Given the description of an element on the screen output the (x, y) to click on. 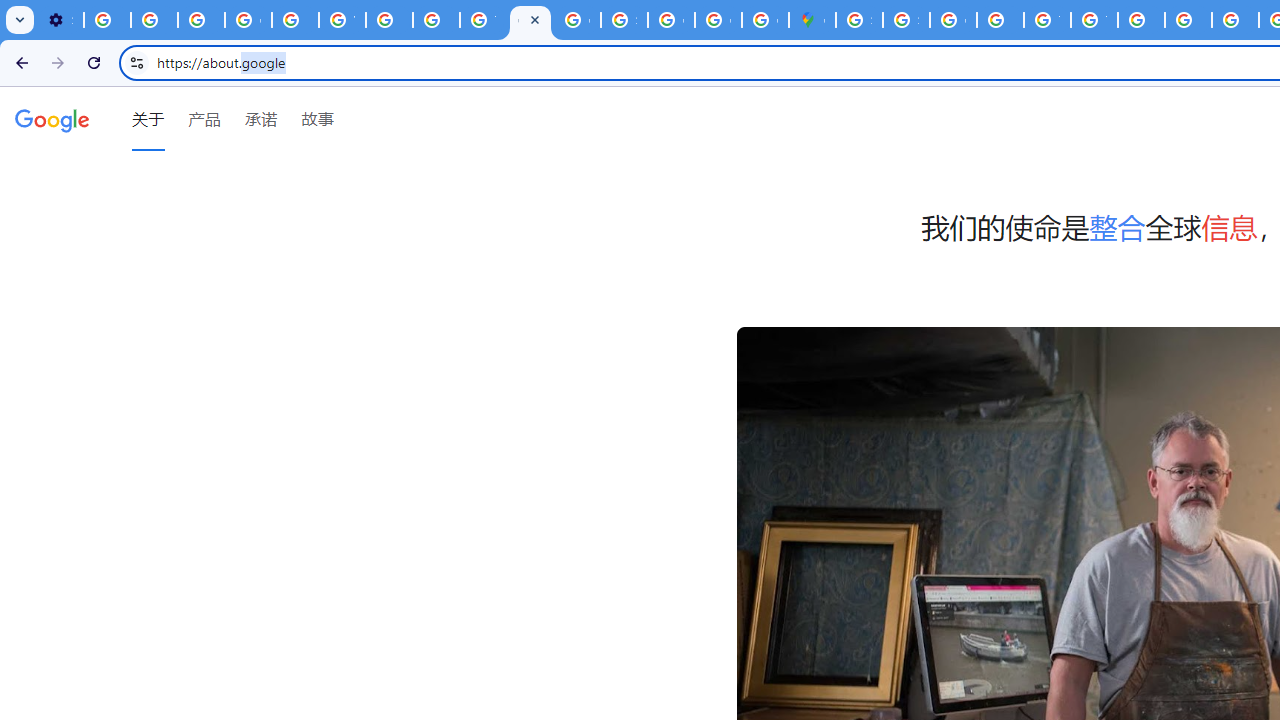
Privacy Help Center - Policies Help (436, 20)
